Given the description of an element on the screen output the (x, y) to click on. 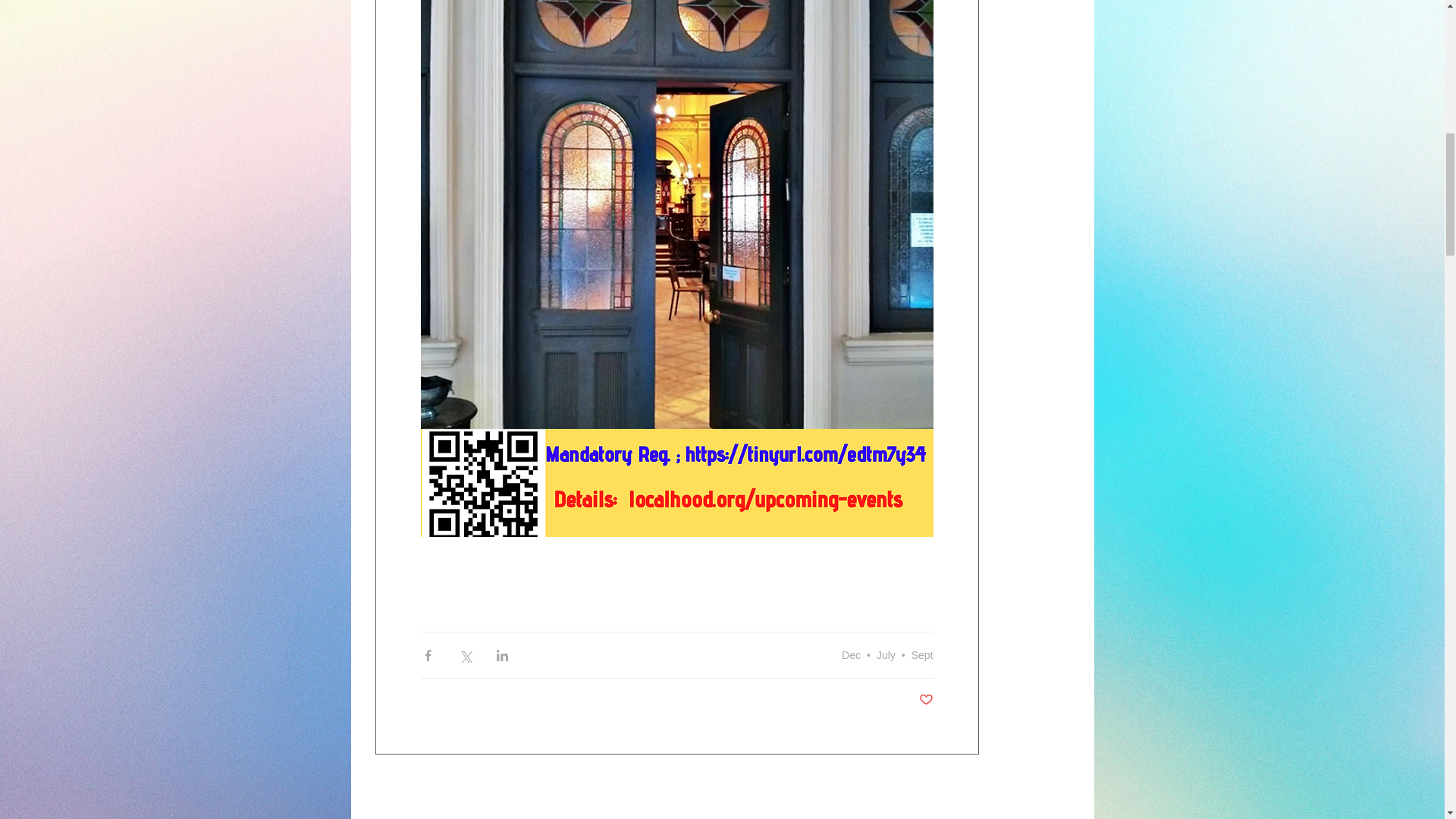
Dec (850, 654)
Post not marked as liked (925, 700)
Sept (922, 654)
July (885, 654)
